Given the description of an element on the screen output the (x, y) to click on. 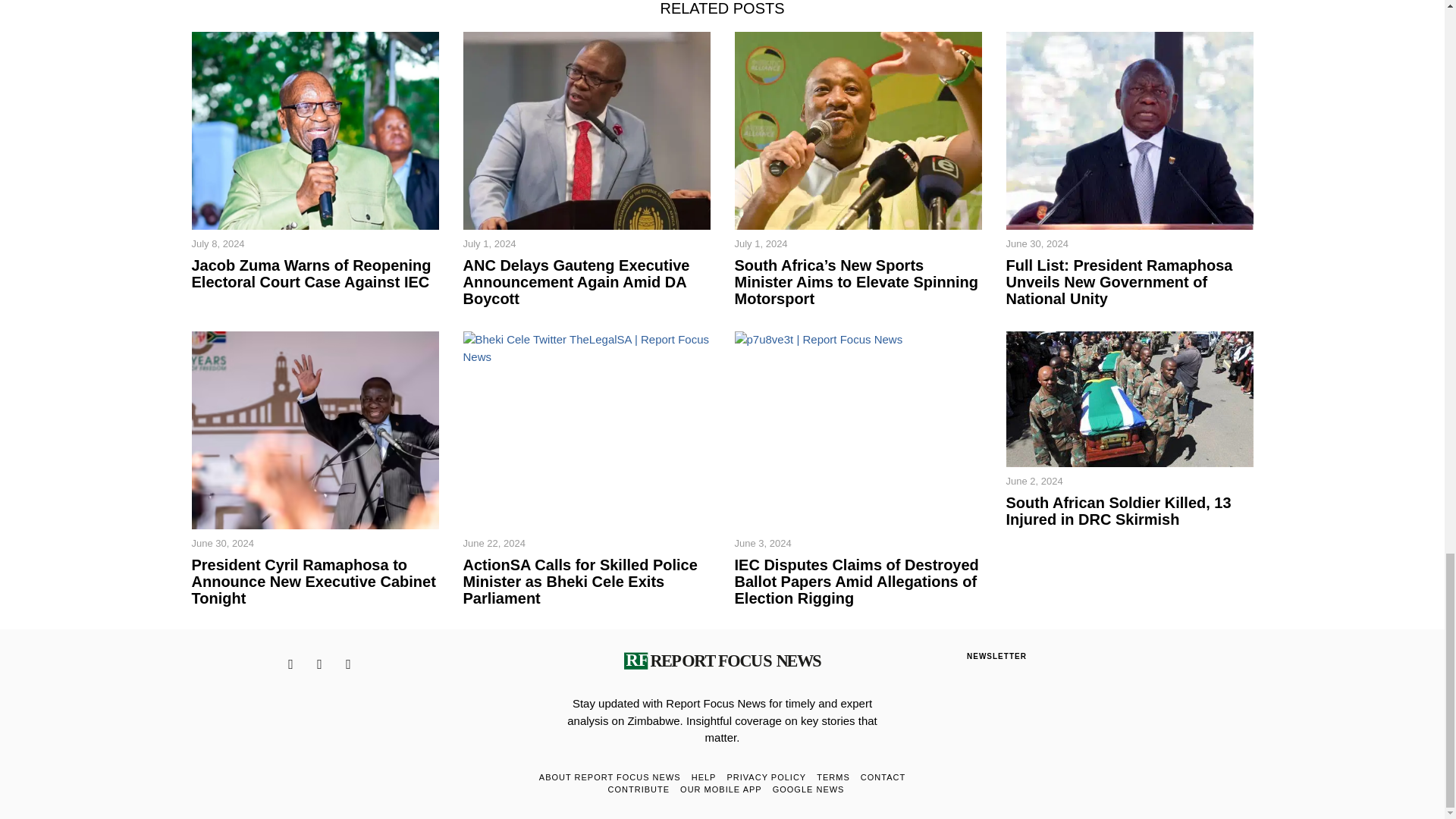
01 Jul, 2024 15:57:14 (760, 243)
01 Jul, 2024 20:15:09 (489, 243)
30 Jun, 2024 21:25:29 (1036, 243)
08 Jul, 2024 18:20:29 (217, 243)
